Given the description of an element on the screen output the (x, y) to click on. 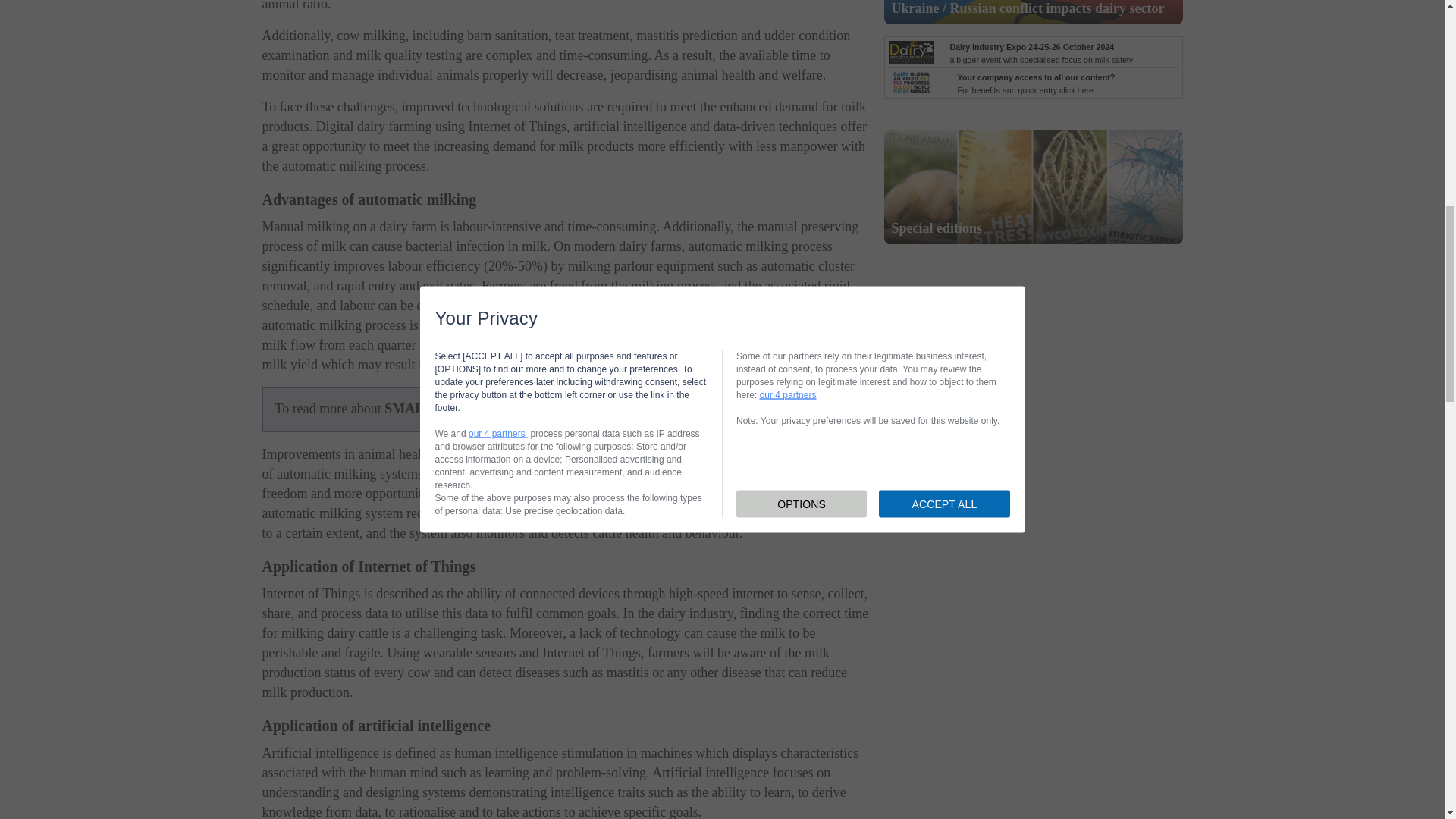
For benefits and quick entry click here (1036, 83)
a bigger event with specialised focus on milk safety (1040, 53)
